Given the description of an element on the screen output the (x, y) to click on. 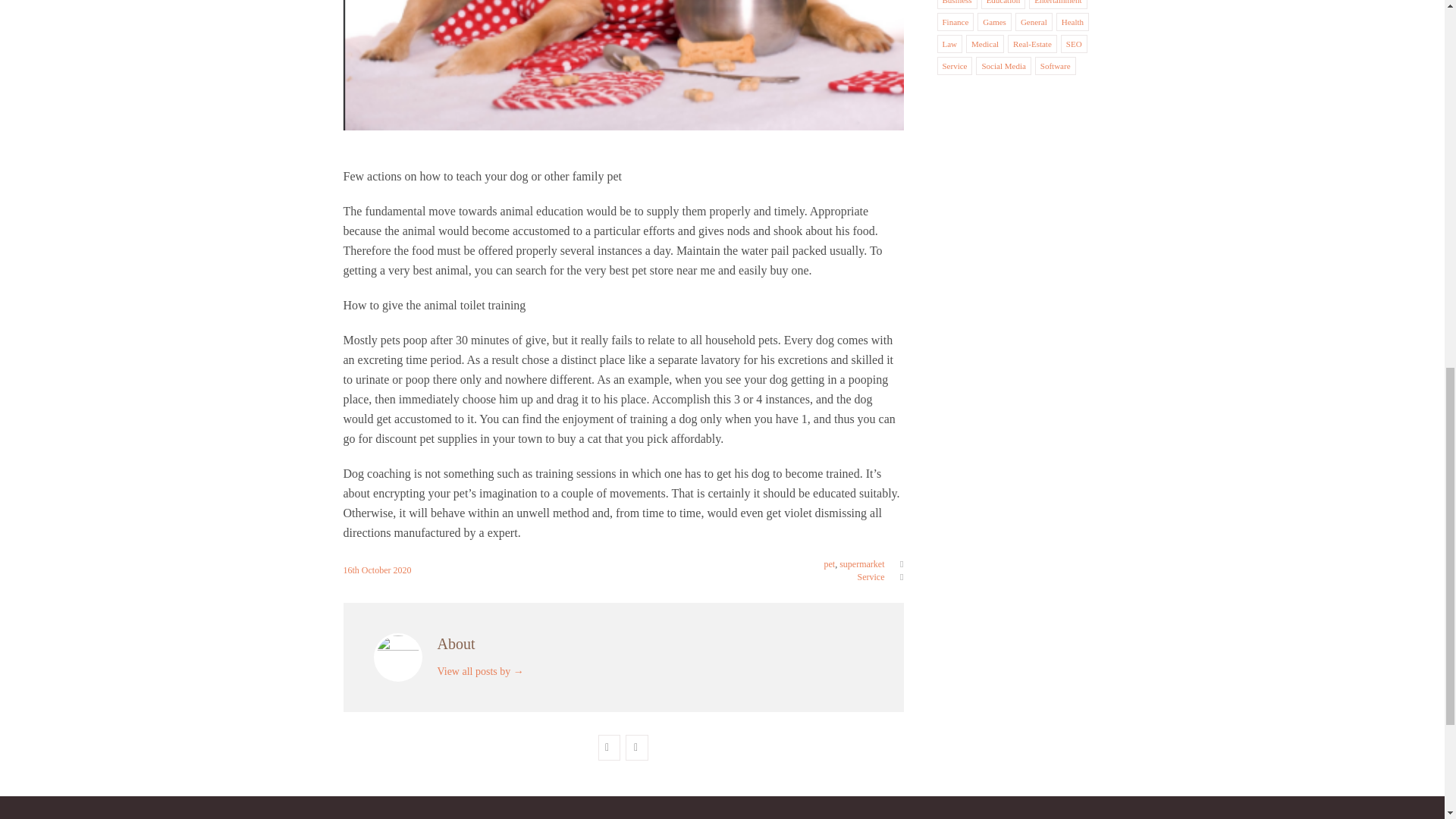
2020 (401, 570)
October (377, 570)
pet (829, 563)
Service (871, 576)
Business (956, 2)
Law (949, 43)
Link to daily archives: October 16, 2020 (351, 570)
Link to yearly archives: 2020 (401, 570)
16th (351, 570)
Games (994, 21)
Service (954, 65)
Link to monthly archives: October (377, 570)
Real-Estate (1032, 43)
Health (1072, 21)
General (1033, 21)
